Given the description of an element on the screen output the (x, y) to click on. 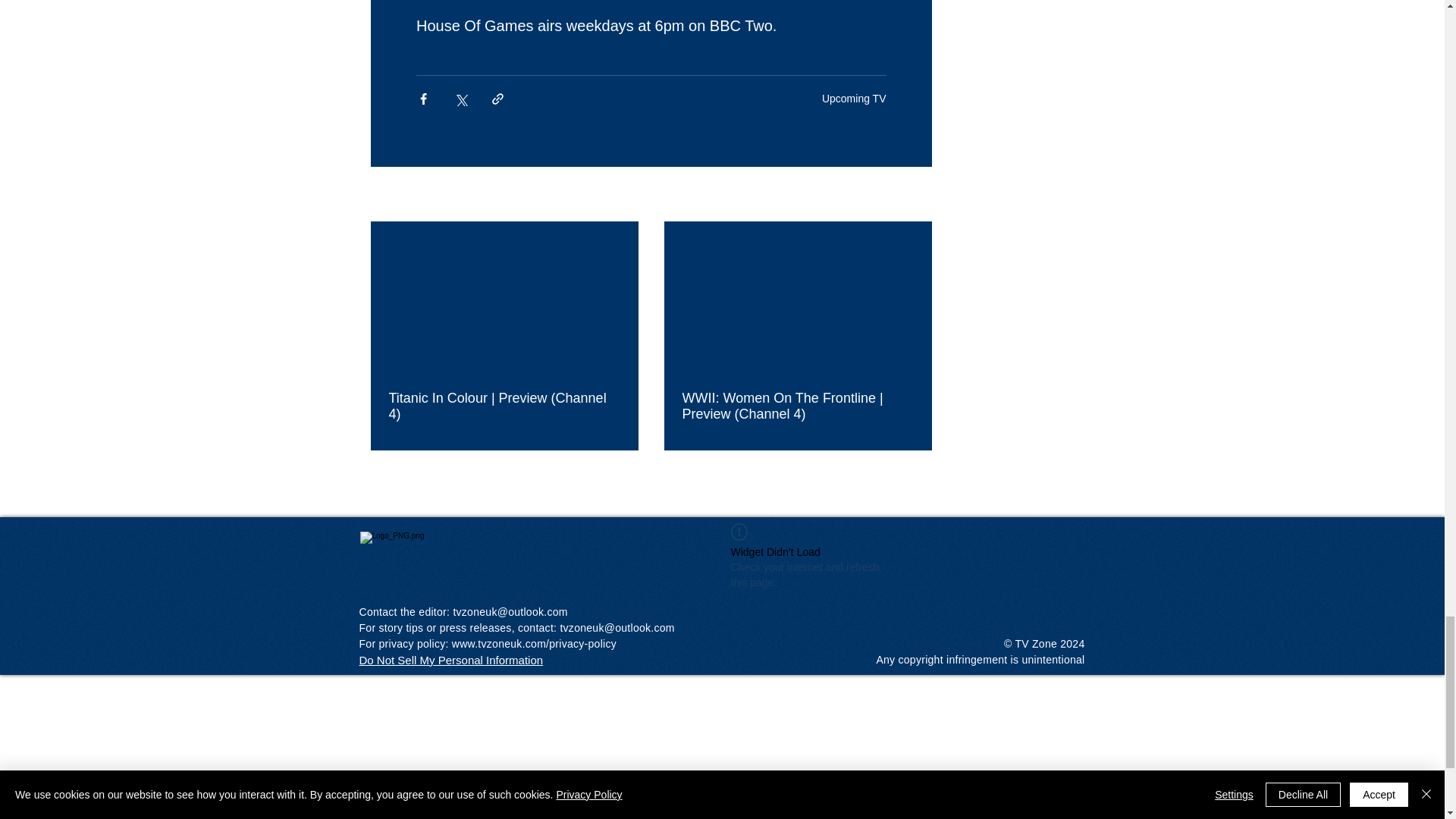
Upcoming TV (854, 98)
See All (914, 195)
